Given the description of an element on the screen output the (x, y) to click on. 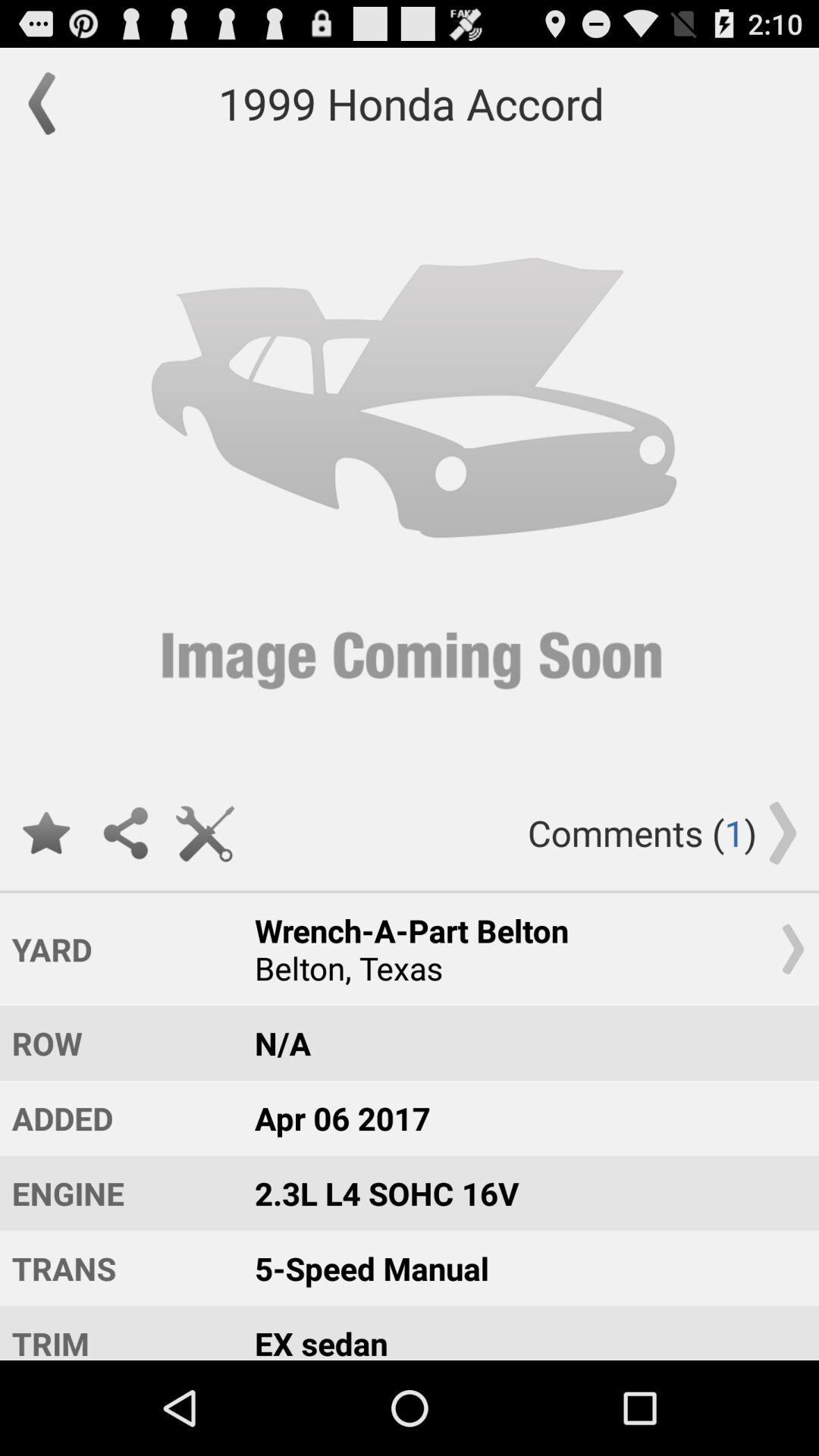
share article (125, 833)
